Given the description of an element on the screen output the (x, y) to click on. 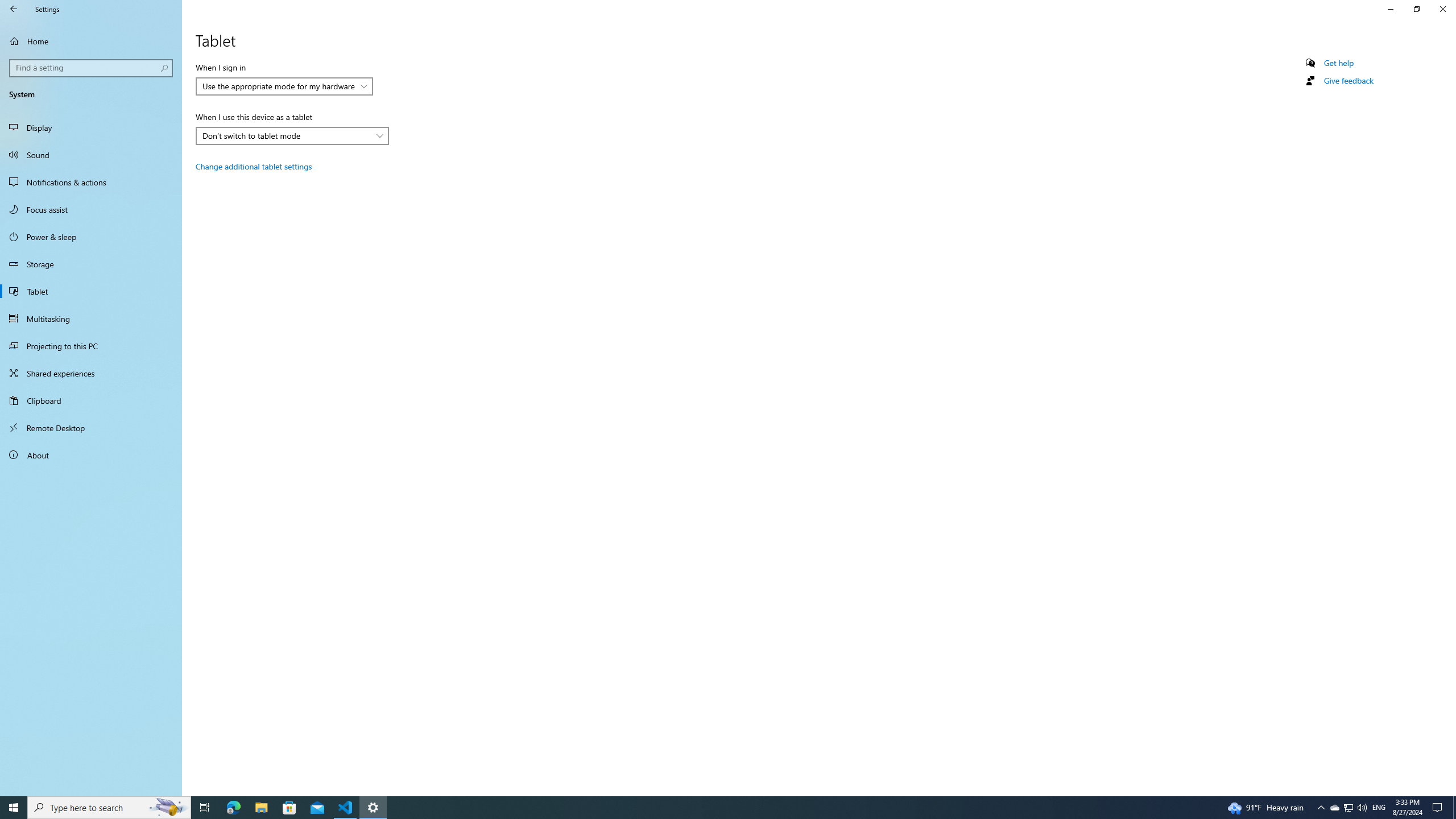
When I use this device as a tablet (291, 135)
Projecting to this PC (91, 345)
Use the appropriate mode for my hardware (278, 86)
